Given the description of an element on the screen output the (x, y) to click on. 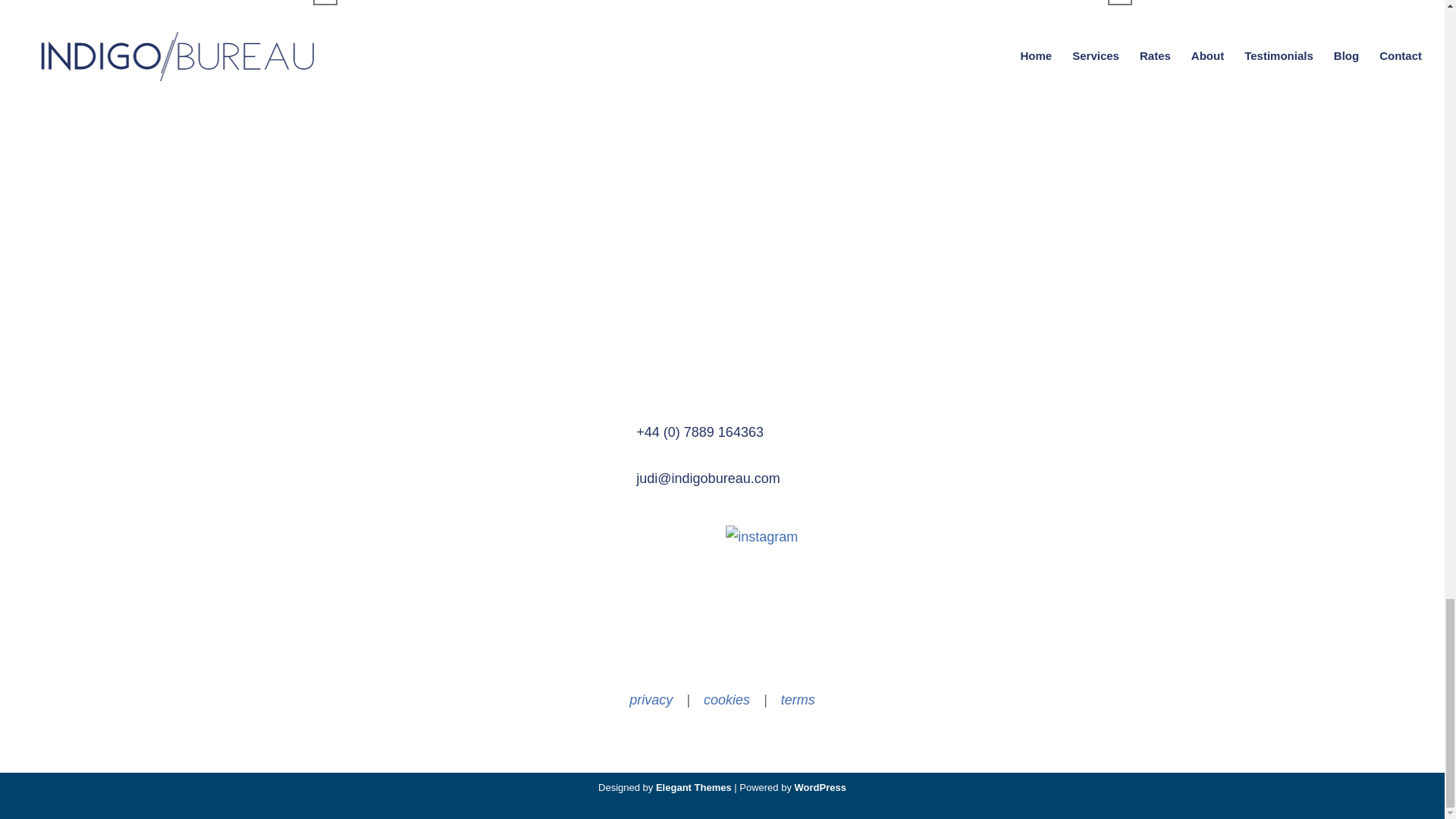
Premium WordPress Themes (694, 787)
Elegant Themes (694, 787)
WordPress (819, 787)
privacy (650, 699)
cookies (726, 699)
terms (797, 699)
